Given the description of an element on the screen output the (x, y) to click on. 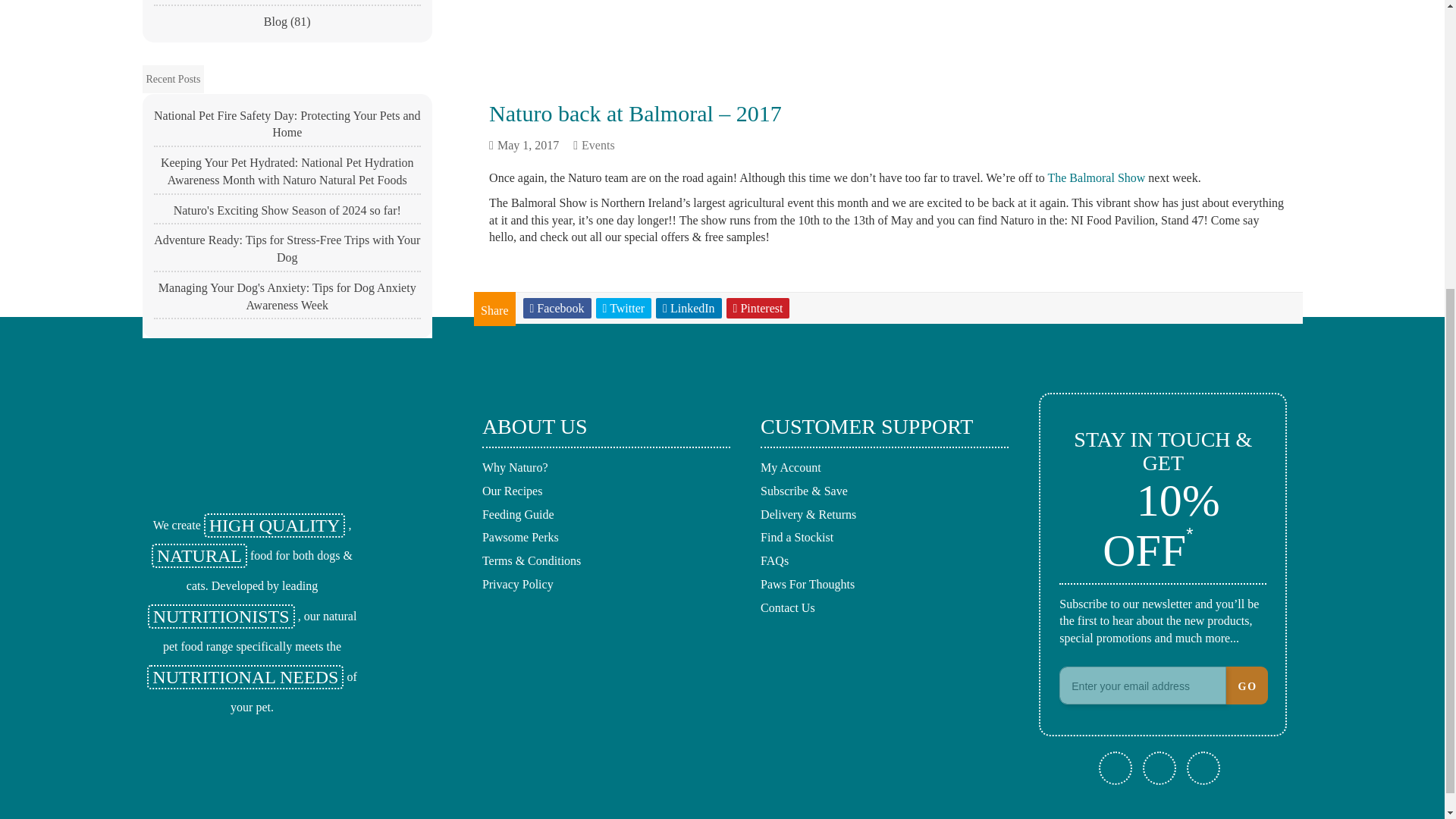
National Pet Fire Safety Day: Protecting Your Pets and Home (286, 127)
Naturo's Exciting Show Season of 2024 so far! (286, 213)
Adventure Ready: Tips for Stress-Free Trips with Your Dog (286, 251)
